Given the description of an element on the screen output the (x, y) to click on. 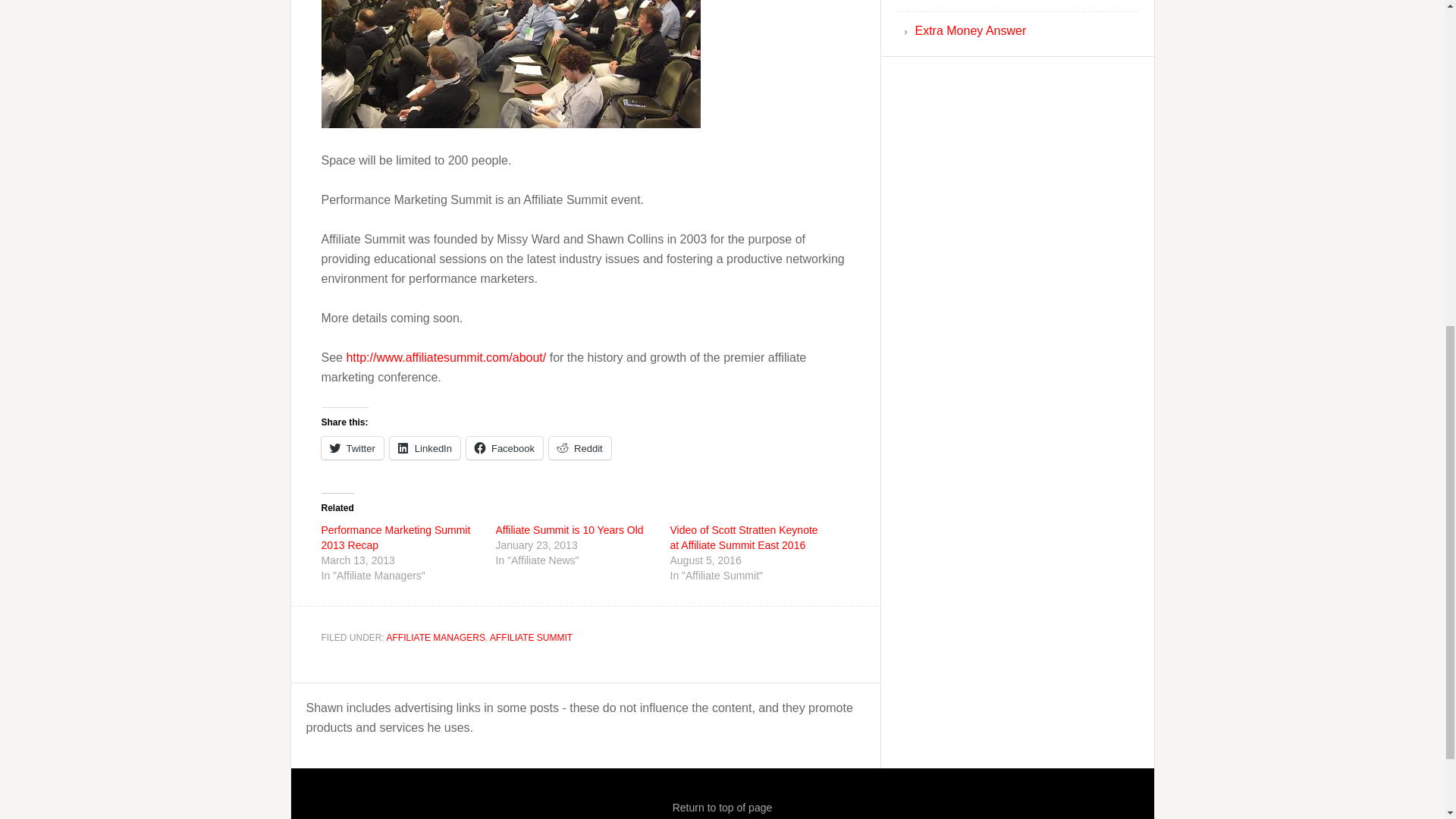
AFFILIATE SUMMIT (530, 637)
Twitter (352, 447)
Click to share on Facebook (504, 447)
Click to share on LinkedIn (425, 447)
Facebook (504, 447)
Performance Marketing Summit 2013 Recap (395, 537)
Affiliate Summit is 10 Years Old (569, 530)
Click to share on Reddit (579, 447)
Reddit (579, 447)
Extra Money Answer (970, 30)
Performance Marketing Summit 2013 Recap (395, 537)
Affiliate Summit is 10 Years Old (569, 530)
LinkedIn (425, 447)
